Given the description of an element on the screen output the (x, y) to click on. 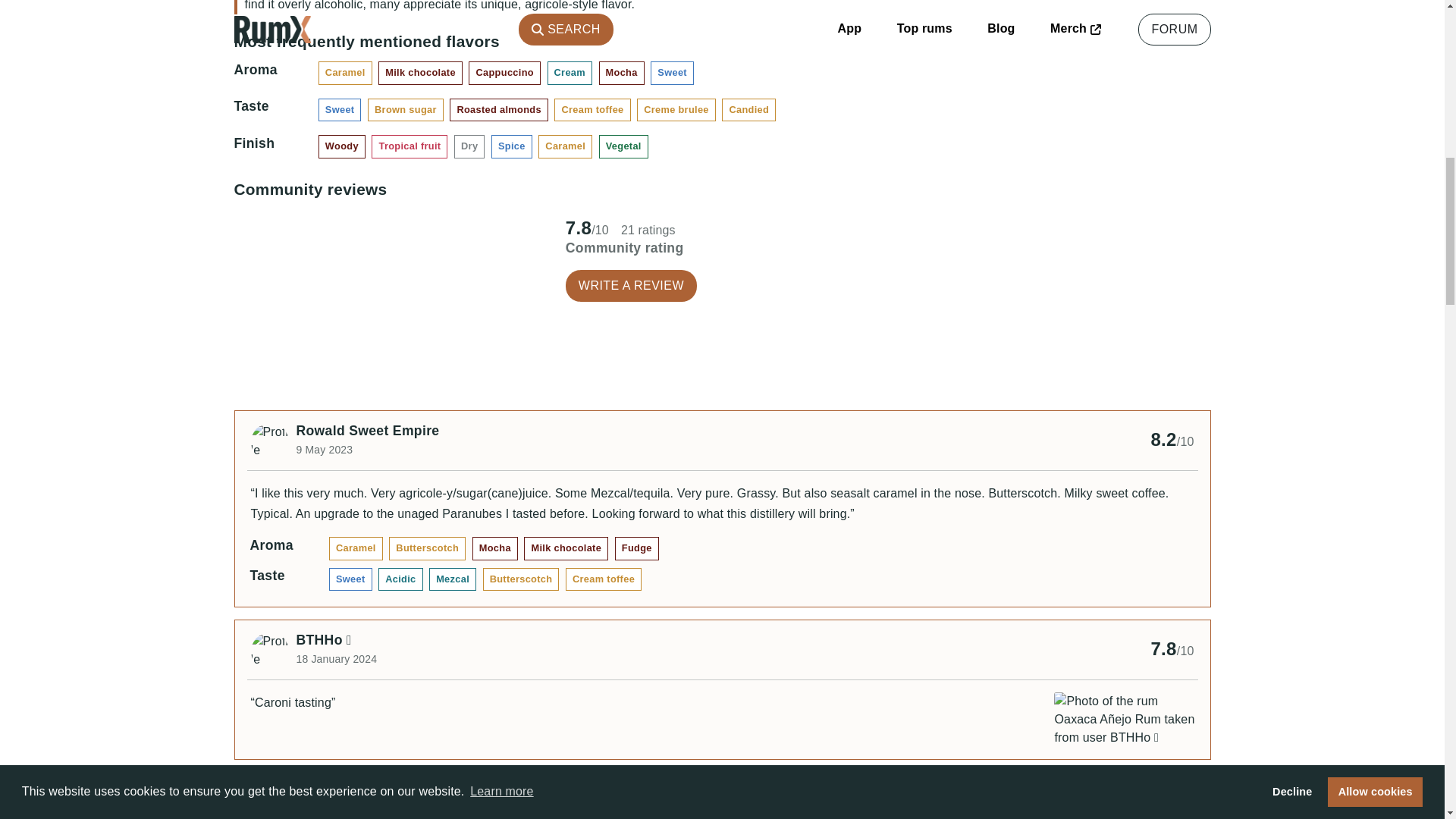
WRITE A REVIEW (631, 286)
